Given the description of an element on the screen output the (x, y) to click on. 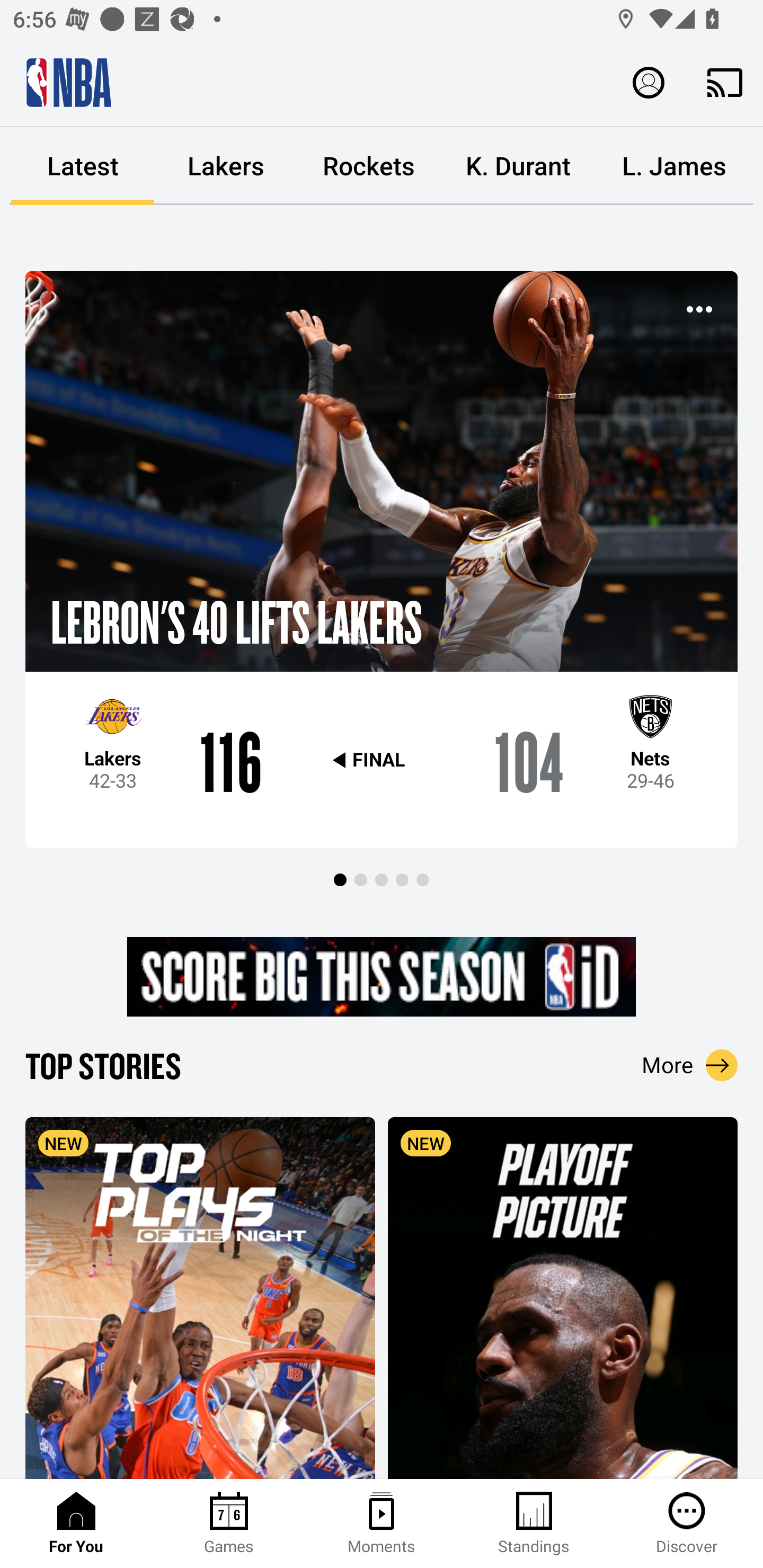
Cast. Disconnected (724, 82)
Profile (648, 81)
Lakers (225, 166)
Rockets (368, 166)
K. Durant (518, 166)
L. James (673, 166)
TOP STORIES More NEW NEW (381, 1260)
More (689, 1064)
NEW (200, 1297)
NEW (562, 1297)
Games (228, 1523)
Moments (381, 1523)
Standings (533, 1523)
Discover (686, 1523)
